Given the description of an element on the screen output the (x, y) to click on. 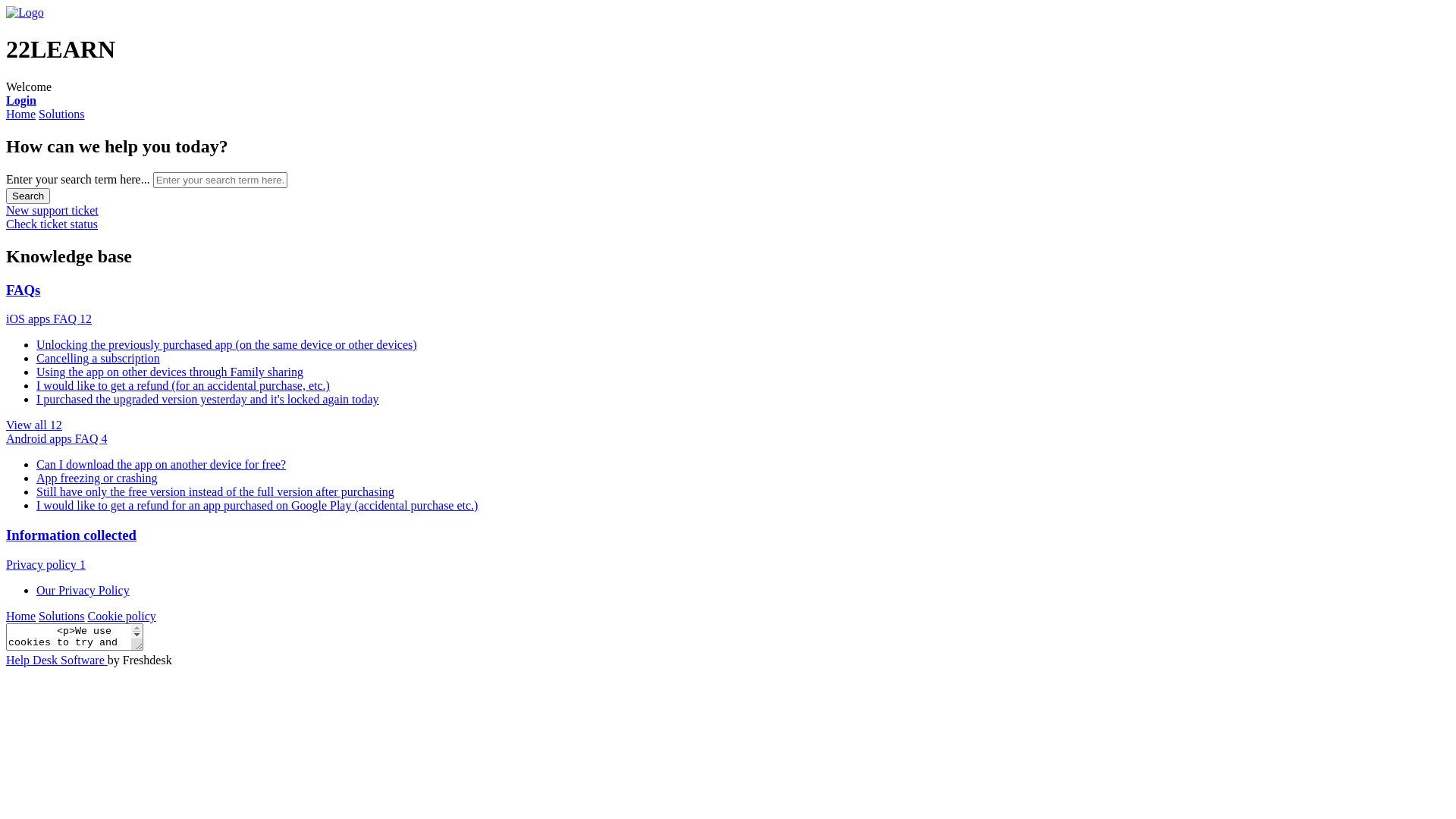
Login Element type: text (21, 100)
Solutions Element type: text (61, 113)
New support ticket Element type: text (52, 209)
Cookie policy Element type: text (121, 615)
Information collected Element type: text (71, 534)
Using the app on other devices through Family sharing Element type: text (169, 371)
Home Element type: text (20, 113)
Can I download the app on another device for free? Element type: text (160, 464)
Privacy policy 1 Element type: text (45, 564)
Android apps FAQ 4 Element type: text (56, 438)
Search Element type: text (28, 195)
Solutions Element type: text (61, 615)
Home Element type: text (20, 615)
View all 12 Element type: text (34, 424)
Help Desk Software Element type: text (56, 659)
Cancelling a subscription Element type: text (98, 357)
App freezing or crashing Element type: text (96, 477)
FAQs Element type: text (23, 290)
iOS apps FAQ 12 Element type: text (48, 318)
Check ticket status Element type: text (51, 223)
Our Privacy Policy Element type: text (82, 589)
